Given the description of an element on the screen output the (x, y) to click on. 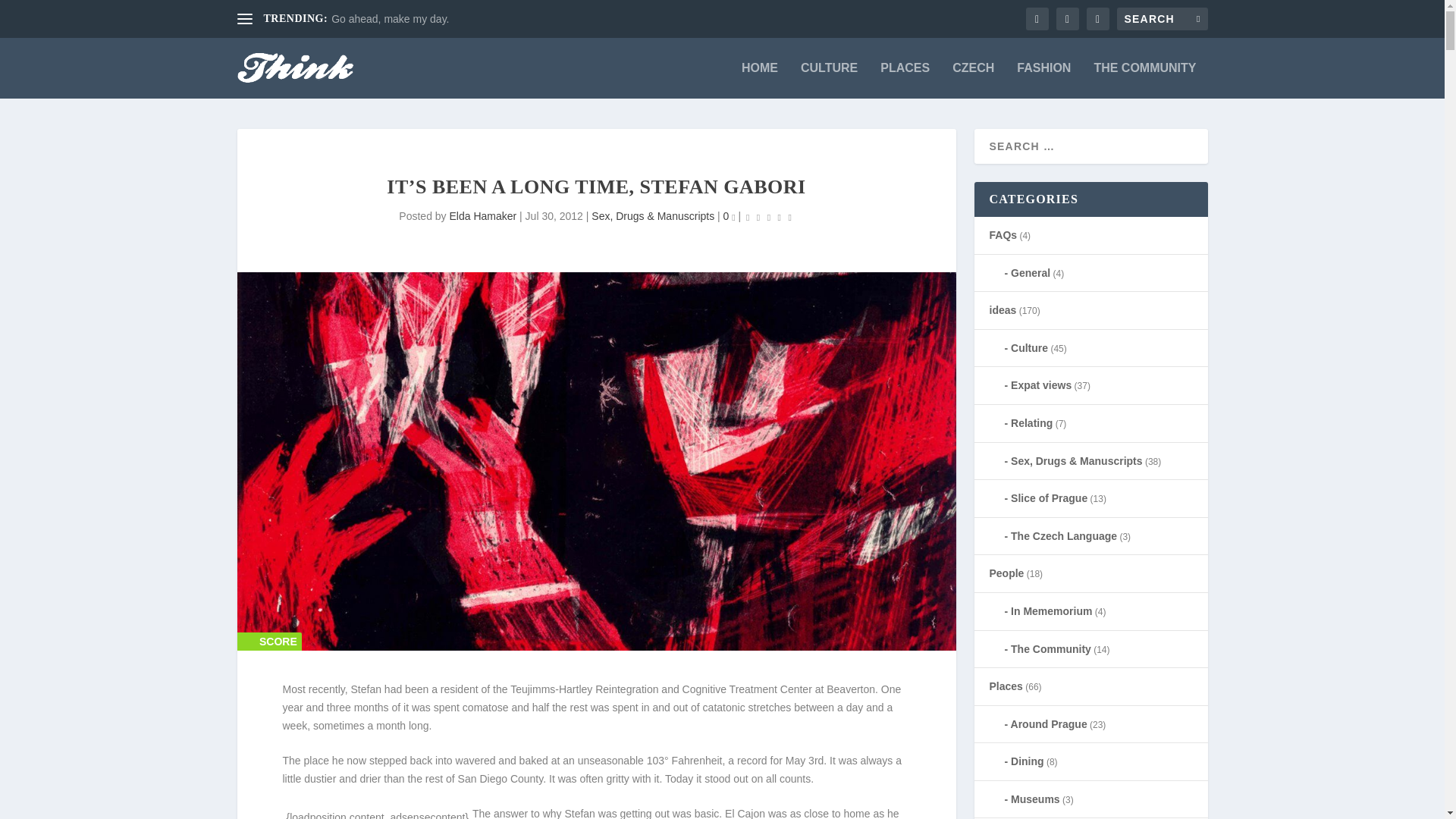
Search for: (1161, 18)
PLACES (905, 80)
FASHION (1043, 80)
Elda Hamaker (482, 215)
Rating: 0.00 (768, 217)
CZECH (973, 80)
Posts by Elda Hamaker (482, 215)
0 (729, 215)
CULTURE (828, 80)
Go ahead, make my day. (389, 19)
HOME (759, 80)
comment count (733, 217)
THE COMMUNITY (1144, 80)
